Given the description of an element on the screen output the (x, y) to click on. 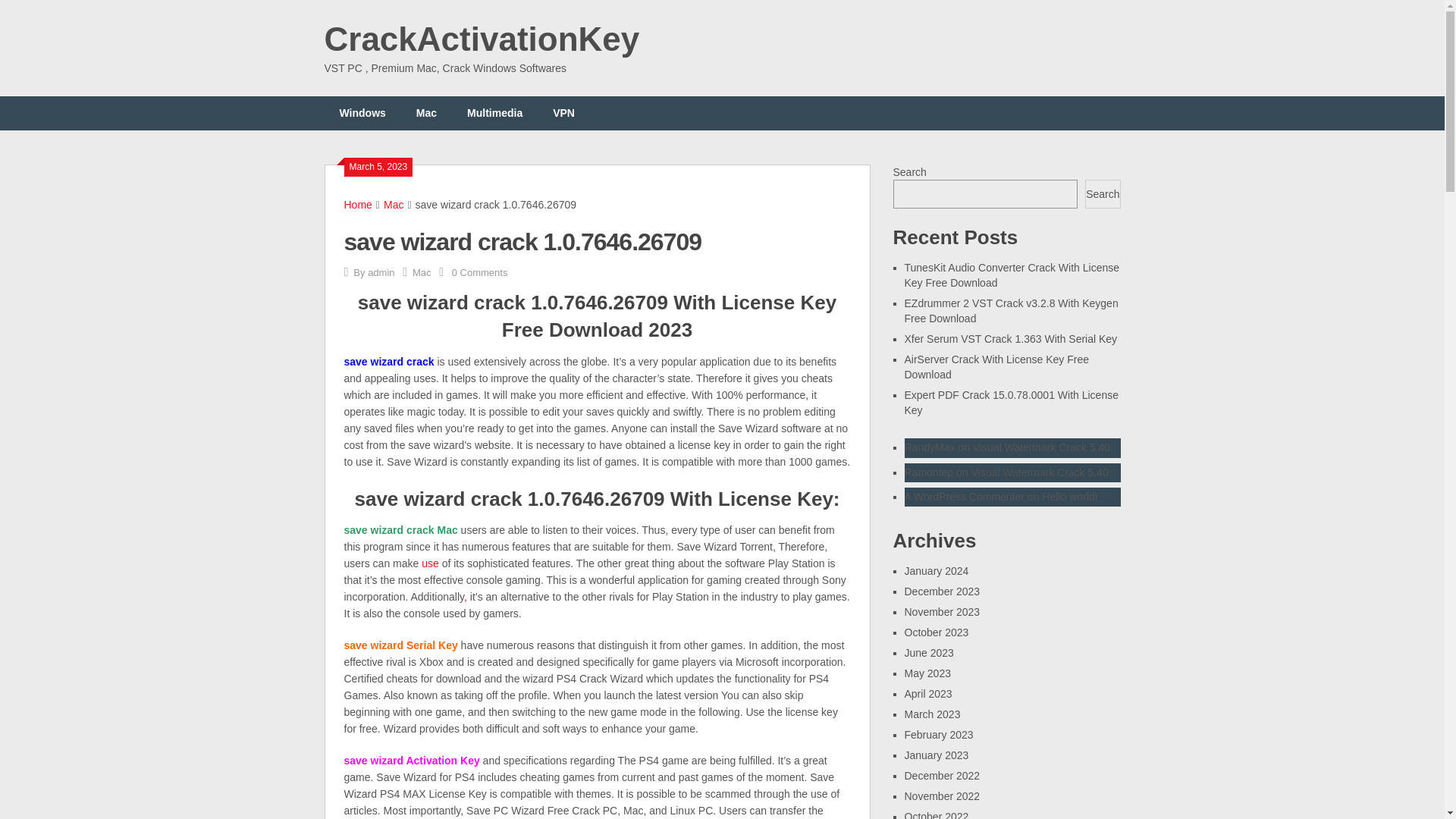
Visual Watermark Crack 5.40 (1039, 472)
Mac (426, 113)
A WordPress Commenter (963, 496)
VPN (563, 113)
Hello world! (1069, 496)
Expert PDF Crack 15.0.78.0001 With License Key (1011, 402)
Home (357, 204)
AirServer Crack With License Key Free Download (996, 366)
0 Comments (479, 272)
save wizard Serial Key (402, 645)
Xfer Serum VST Crack 1.363 With Serial Key (1010, 338)
Visual Watermark Crack 5.40 (1040, 447)
Mac (421, 272)
Search (1101, 193)
